Given the description of an element on the screen output the (x, y) to click on. 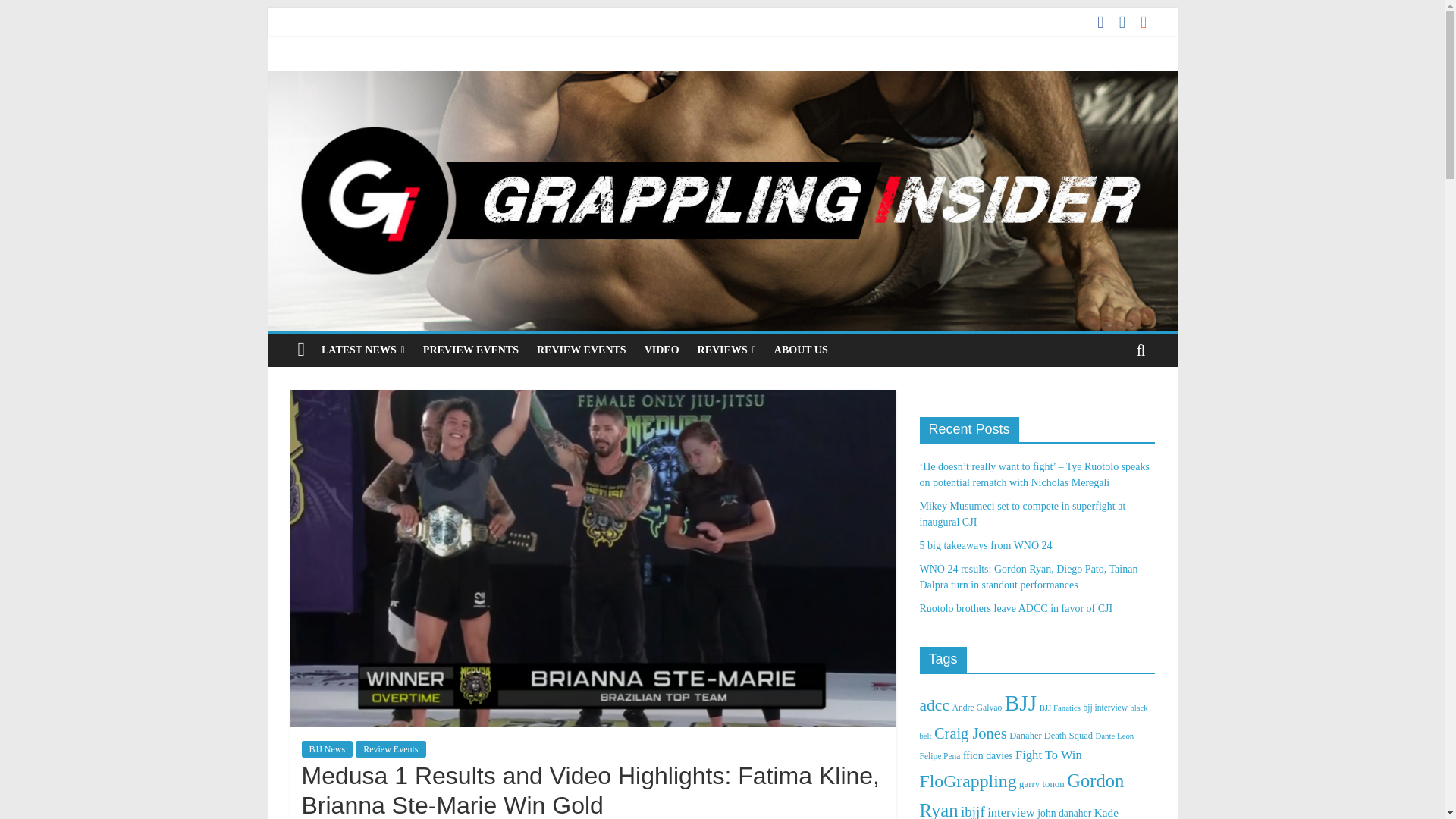
LATEST NEWS (363, 350)
ABOUT US (801, 350)
VIDEO (661, 350)
Grappling Insider (301, 350)
PREVIEW EVENTS (470, 350)
BJJ News (327, 749)
REVIEWS (726, 350)
Grappling Insider (721, 79)
REVIEW EVENTS (580, 350)
Review Events (390, 749)
